Given the description of an element on the screen output the (x, y) to click on. 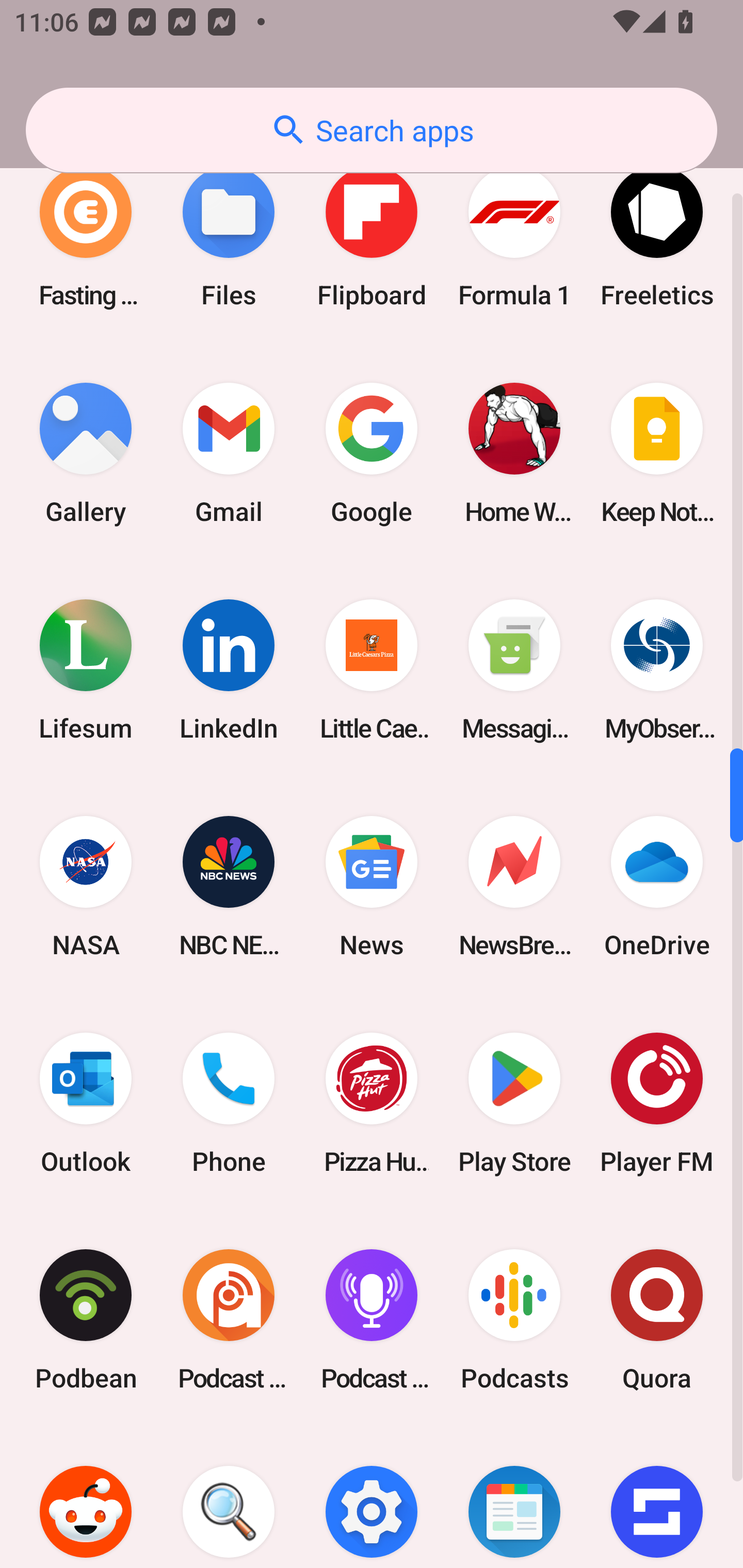
  Search apps (371, 130)
Fasting Coach (85, 236)
Files (228, 236)
Flipboard (371, 236)
Formula 1 (514, 236)
Freeletics (656, 236)
Gallery (85, 452)
Gmail (228, 452)
Google (371, 452)
Home Workout (514, 452)
Keep Notes (656, 452)
Lifesum (85, 669)
LinkedIn (228, 669)
Little Caesars Pizza (371, 669)
Messaging (514, 669)
MyObservatory (656, 669)
NASA (85, 886)
NBC NEWS (228, 886)
News (371, 886)
NewsBreak (514, 886)
OneDrive (656, 886)
Outlook (85, 1103)
Phone (228, 1103)
Pizza Hut HK & Macau (371, 1103)
Play Store (514, 1103)
Player FM (656, 1103)
Podbean (85, 1320)
Podcast Addict (228, 1320)
Podcast Player (371, 1320)
Podcasts (514, 1320)
Quora (656, 1320)
Reddit (85, 1498)
Search (228, 1498)
Settings (371, 1498)
SmartNews (514, 1498)
Sofascore (656, 1498)
